Given the description of an element on the screen output the (x, y) to click on. 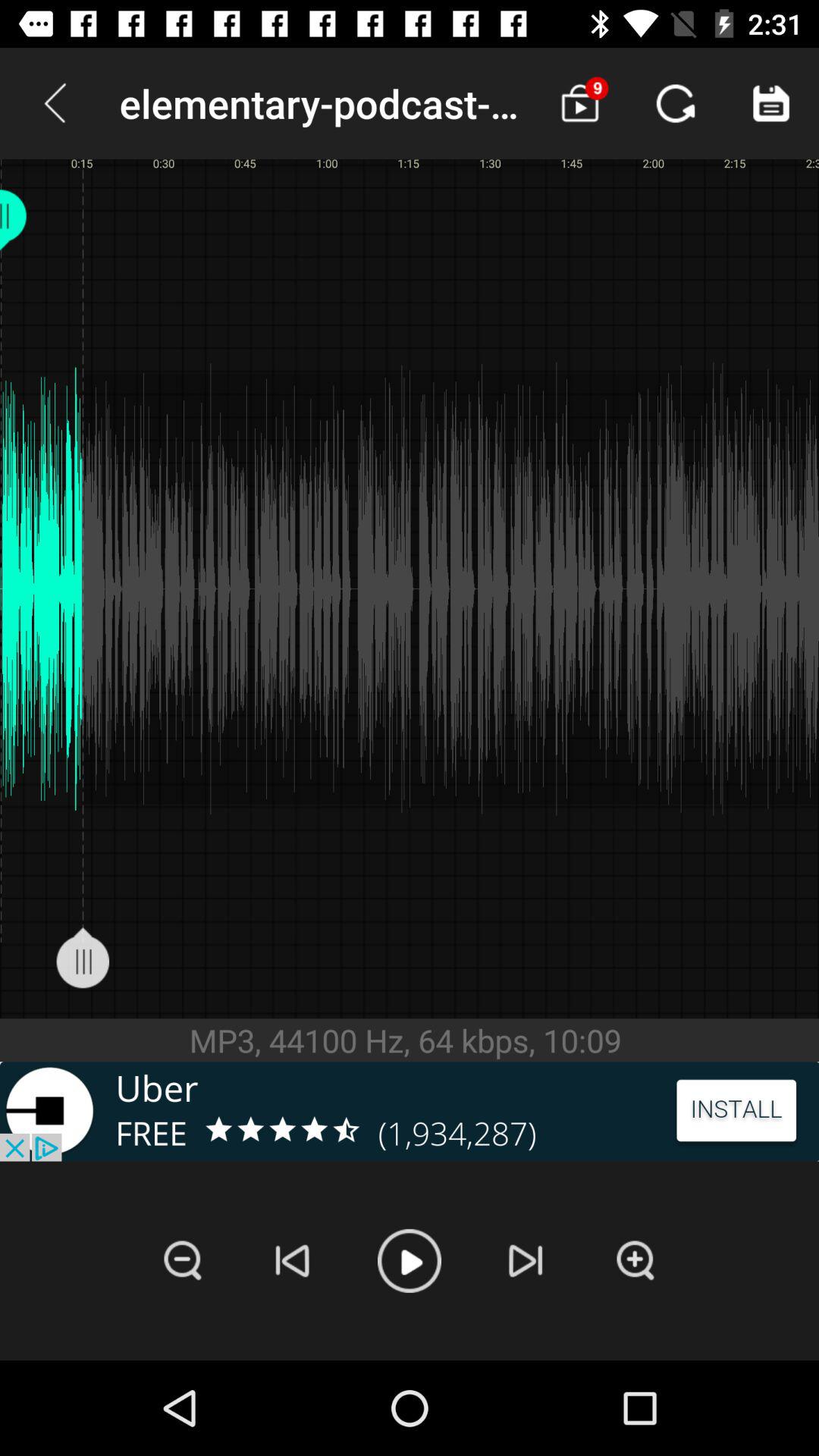
zoom out (183, 1260)
